Given the description of an element on the screen output the (x, y) to click on. 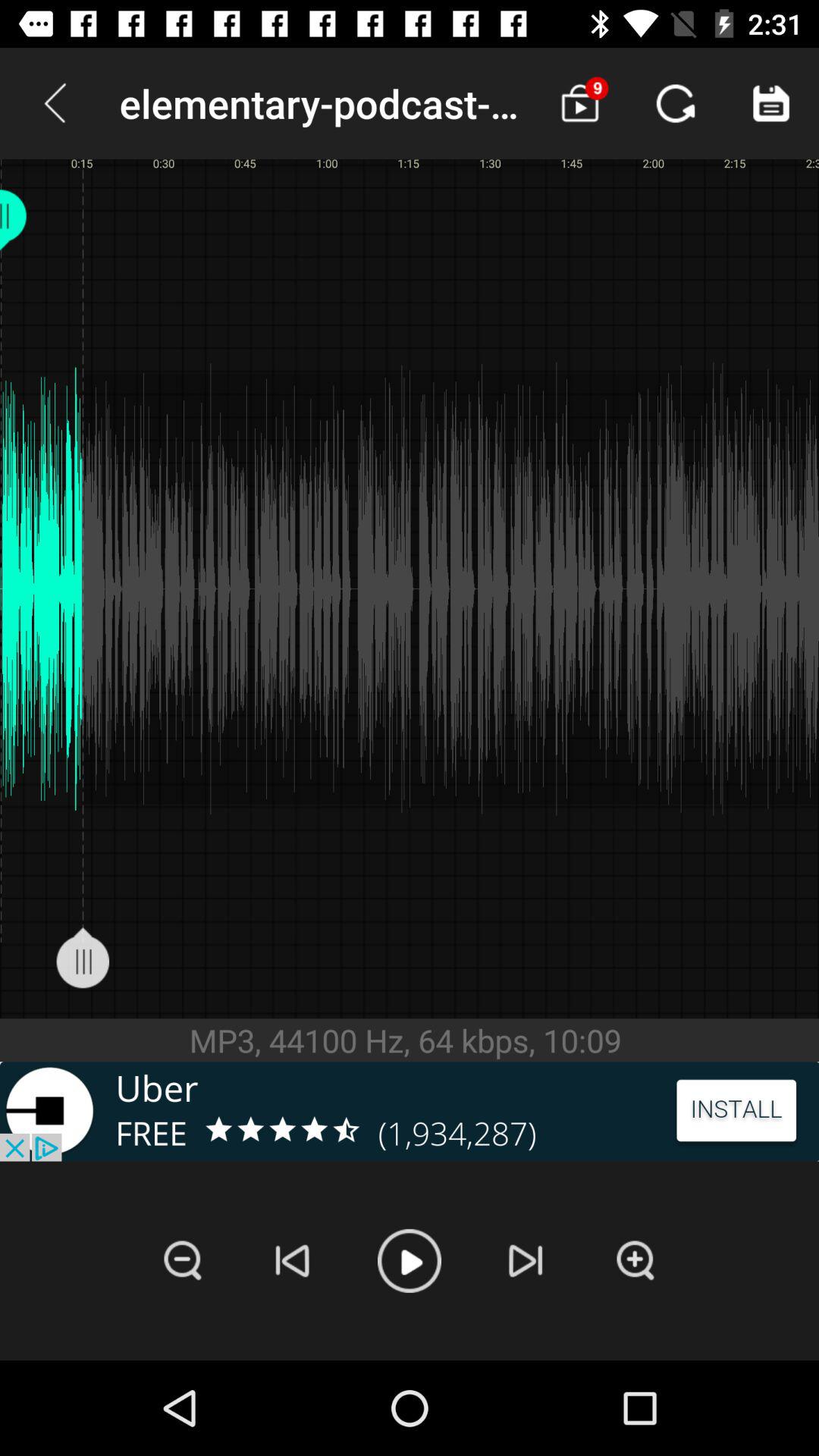
zoom out (183, 1260)
